Given the description of an element on the screen output the (x, y) to click on. 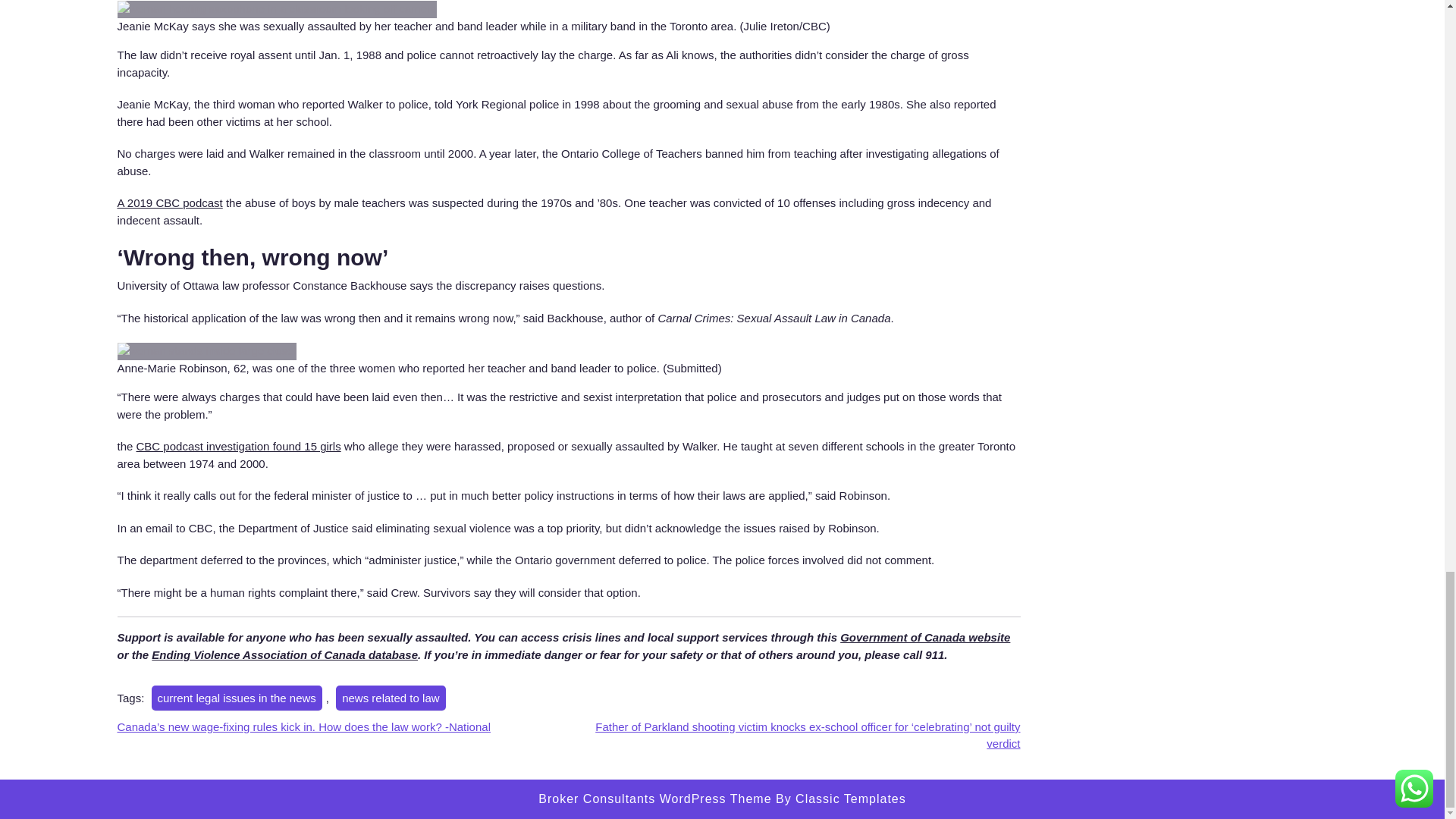
news related to law (390, 697)
current legal issues in the news (236, 697)
